Given the description of an element on the screen output the (x, y) to click on. 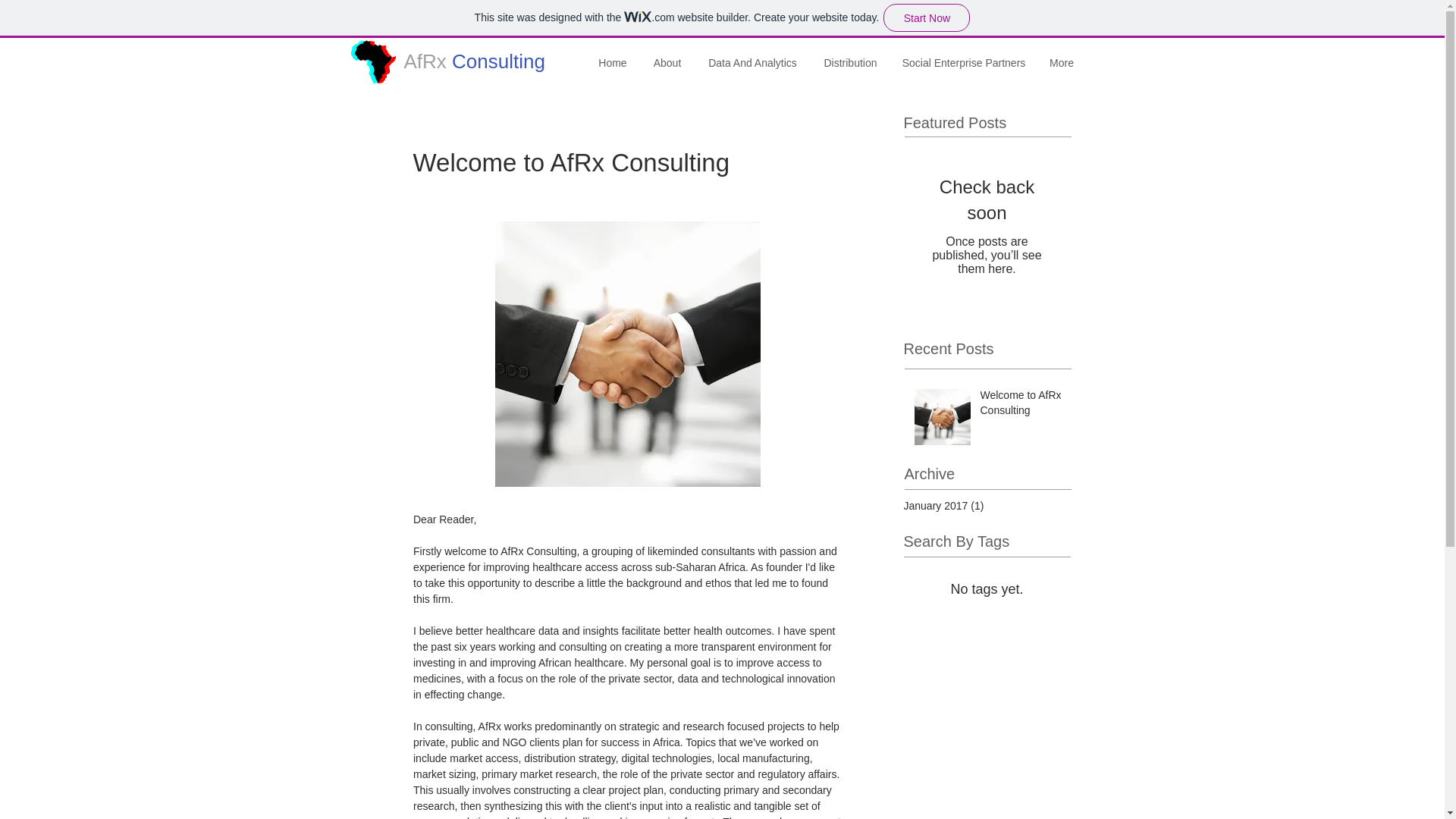
Social Enterprise Partners (962, 63)
AfRx Consulting (473, 60)
About (667, 63)
Home (612, 63)
Data And Analytics (751, 63)
Distribution (849, 63)
Welcome to AfRx Consulting (1020, 406)
